Given the description of an element on the screen output the (x, y) to click on. 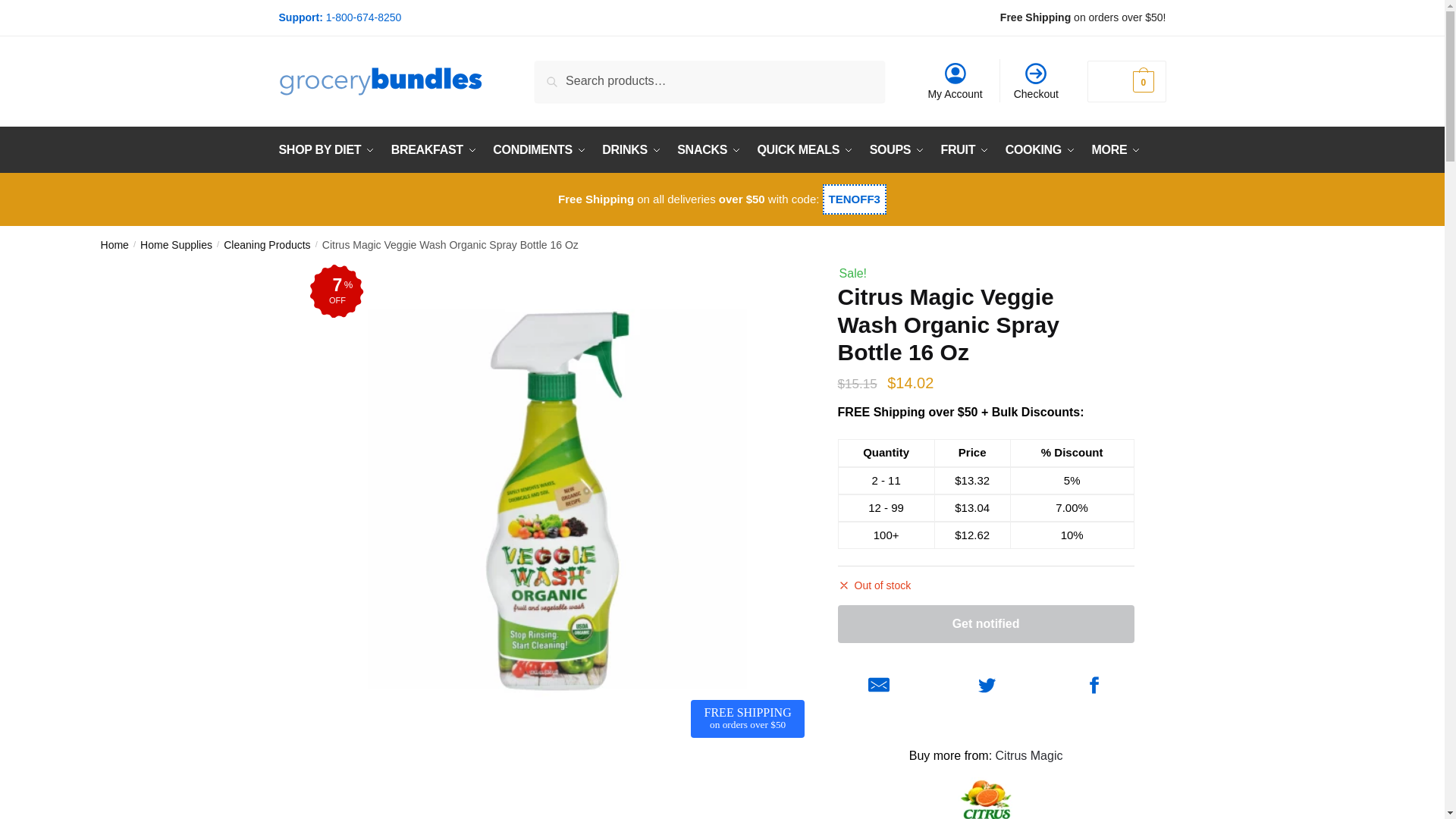
My Account (954, 80)
Get notified (986, 623)
BREAKFAST (434, 149)
Checkout (1035, 80)
My Account (954, 80)
SHOP BY DIET (955, 73)
Support: 1-800-674-8250 (330, 149)
Skip to navigation (340, 17)
CONDIMENTS (48, 9)
Search (539, 149)
View your shopping cart (572, 77)
Skip to content (1126, 81)
Checkout (40, 9)
